Given the description of an element on the screen output the (x, y) to click on. 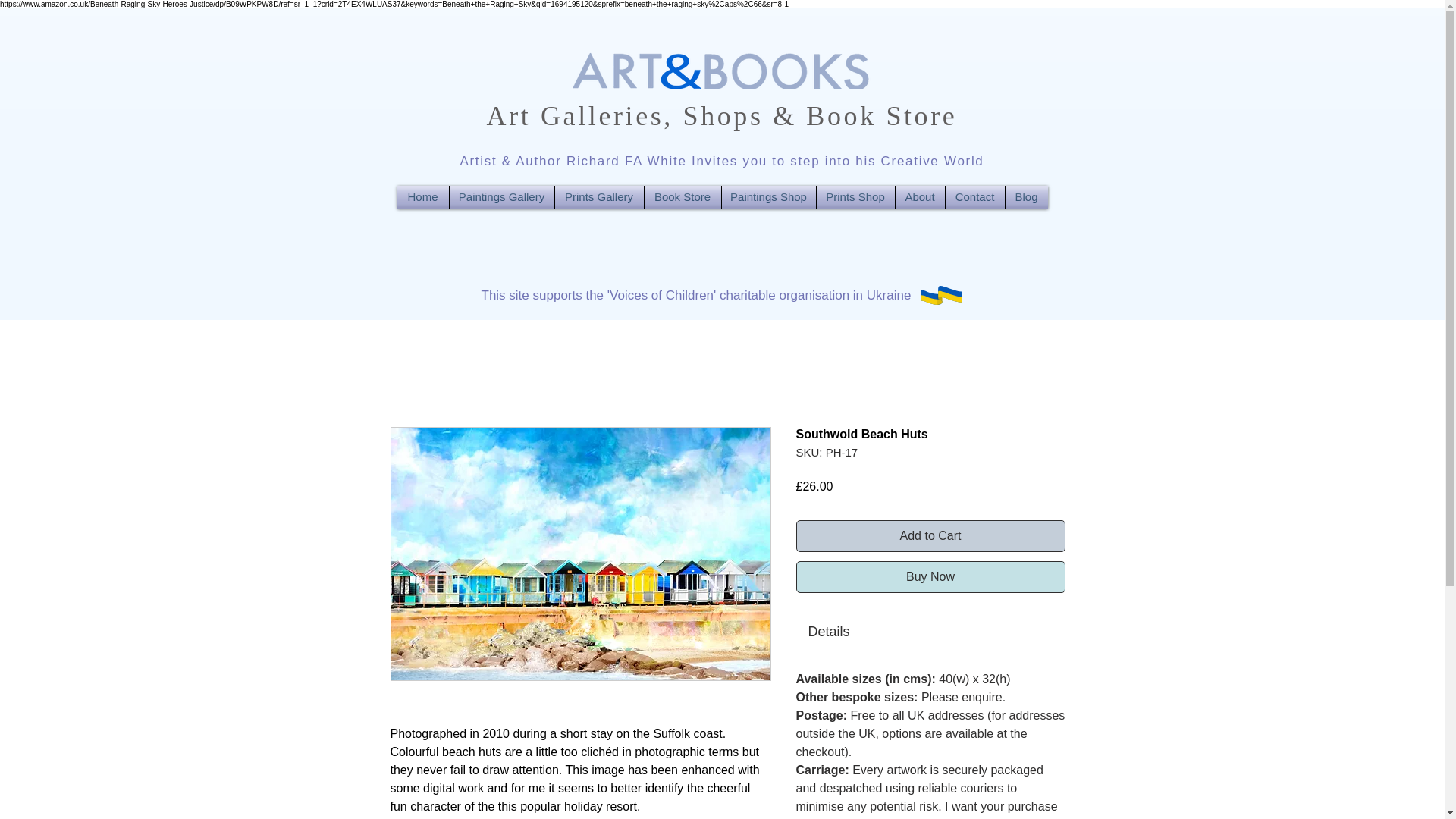
Paintings Gallery (500, 196)
Home (422, 196)
Paintings Shop (768, 196)
Buy Now (930, 576)
About (919, 196)
Use right and left arrows to navigate between tabs (828, 631)
Prints Shop (854, 196)
Add to Cart (930, 536)
Contact (974, 196)
Book Store (682, 196)
